Given the description of an element on the screen output the (x, y) to click on. 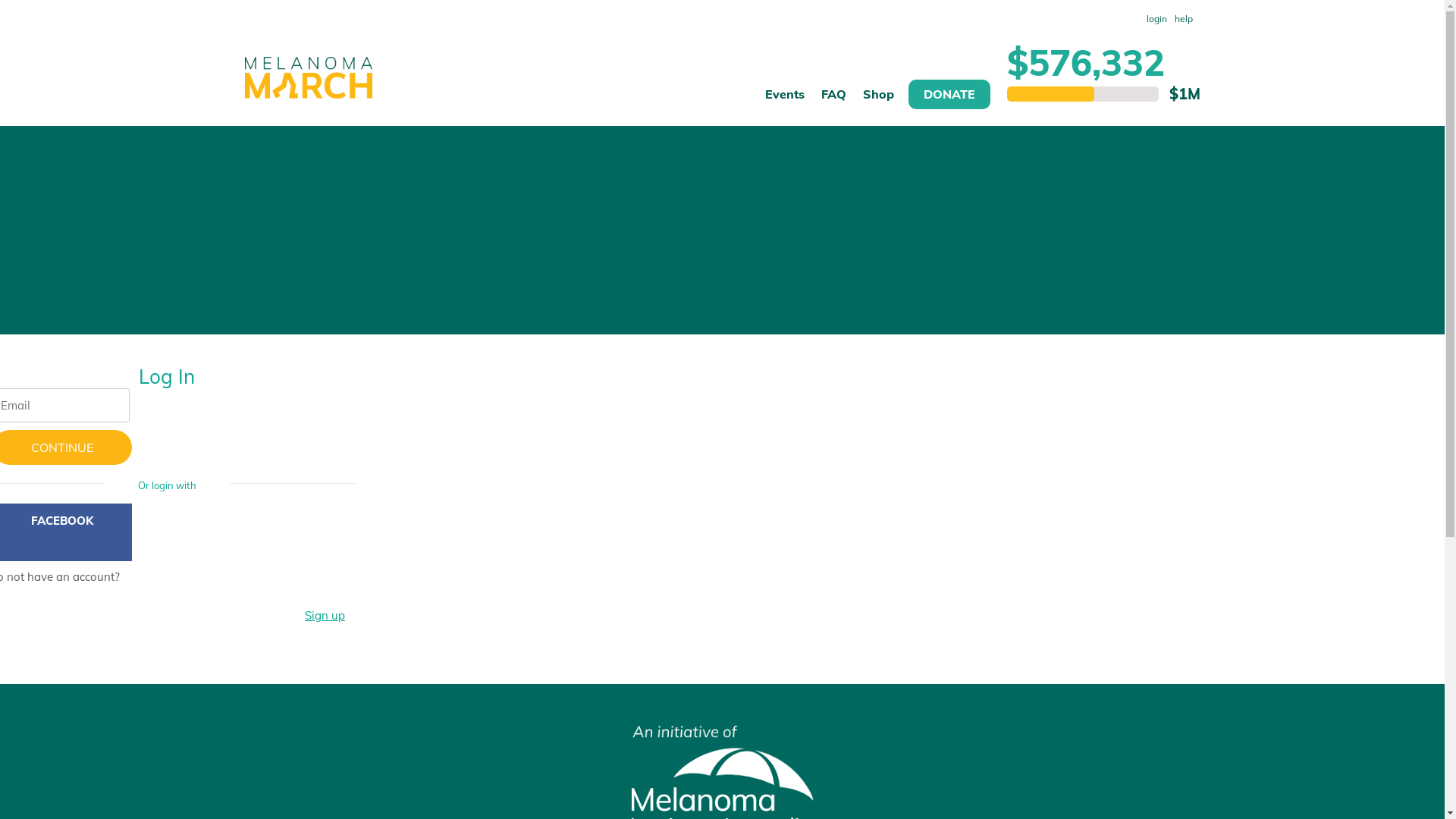
DONATE Element type: text (949, 94)
Events Element type: text (784, 101)
login Element type: text (1156, 18)
Shop Element type: text (878, 101)
Sign up Element type: text (324, 615)
help Element type: text (1183, 18)
FAQ Element type: text (833, 101)
$576,332 Element type: text (1085, 62)
